Given the description of an element on the screen output the (x, y) to click on. 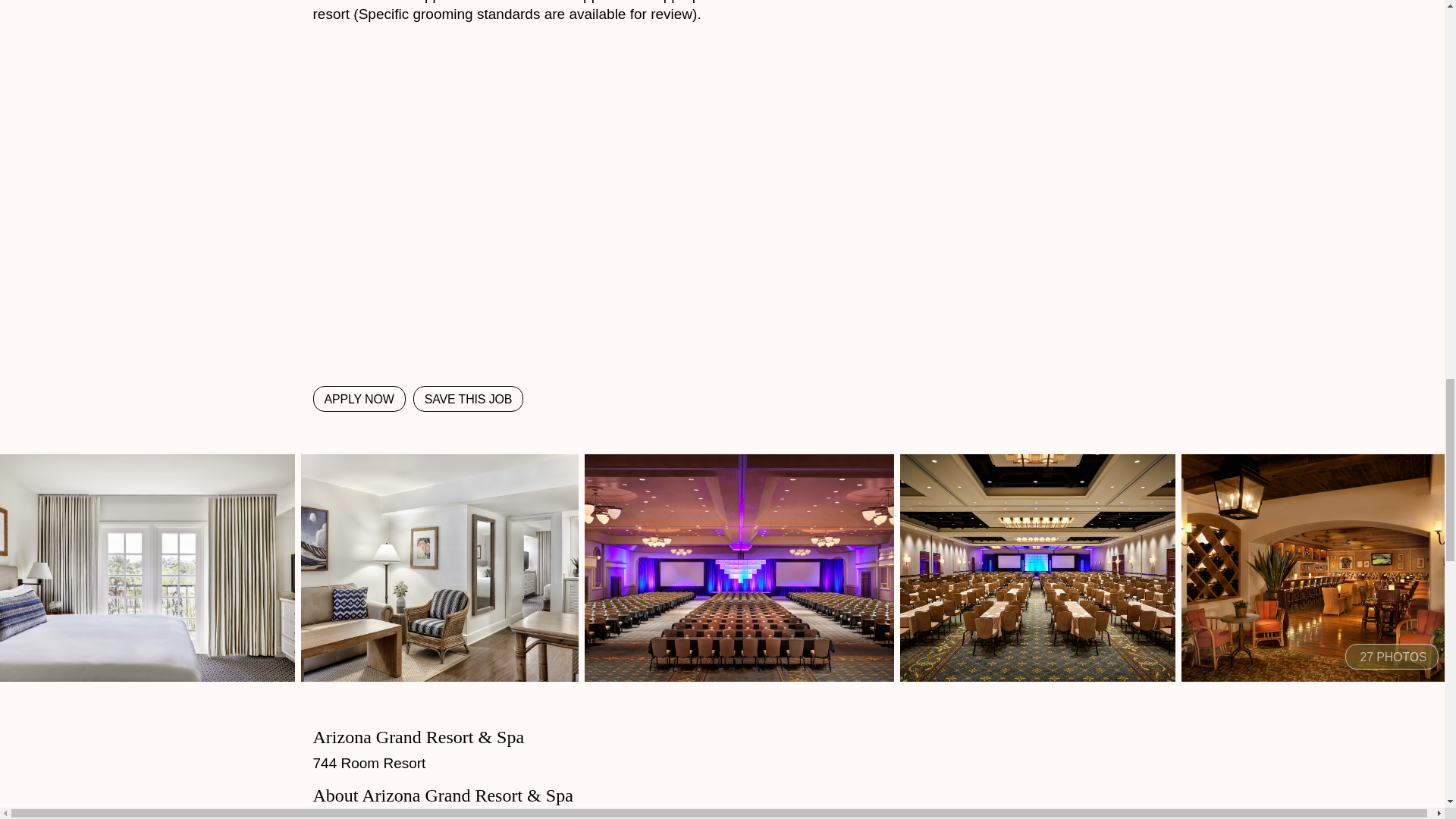
APPLY NOW (358, 398)
 27 PHOTOS (1391, 656)
SAVE THIS JOB (468, 398)
